Given the description of an element on the screen output the (x, y) to click on. 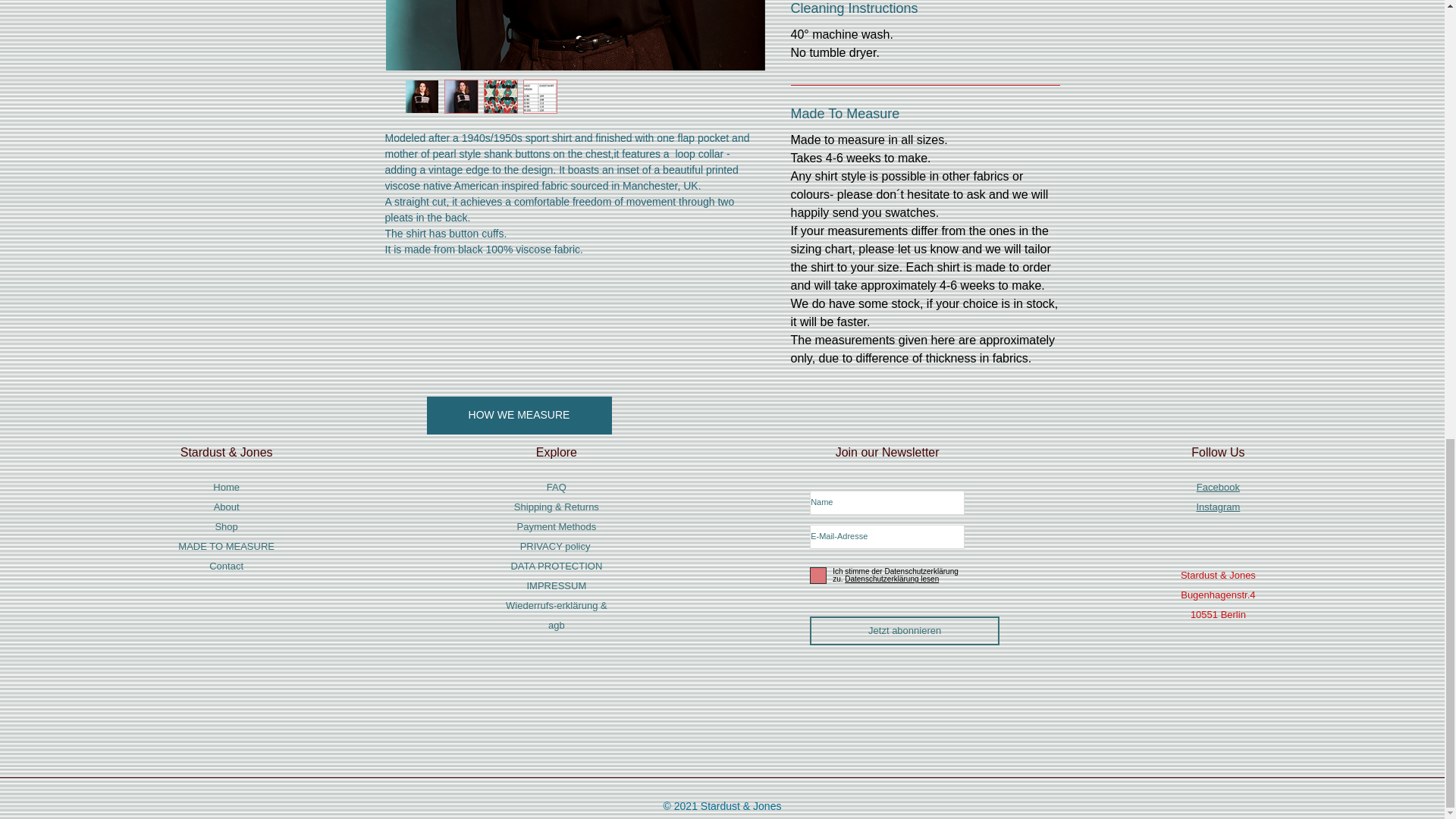
FAQ (556, 487)
Shop (225, 526)
Home (226, 487)
MADE TO MEASURE (226, 546)
About (227, 506)
HOW WE MEASURE (518, 415)
Contact (226, 565)
